Given the description of an element on the screen output the (x, y) to click on. 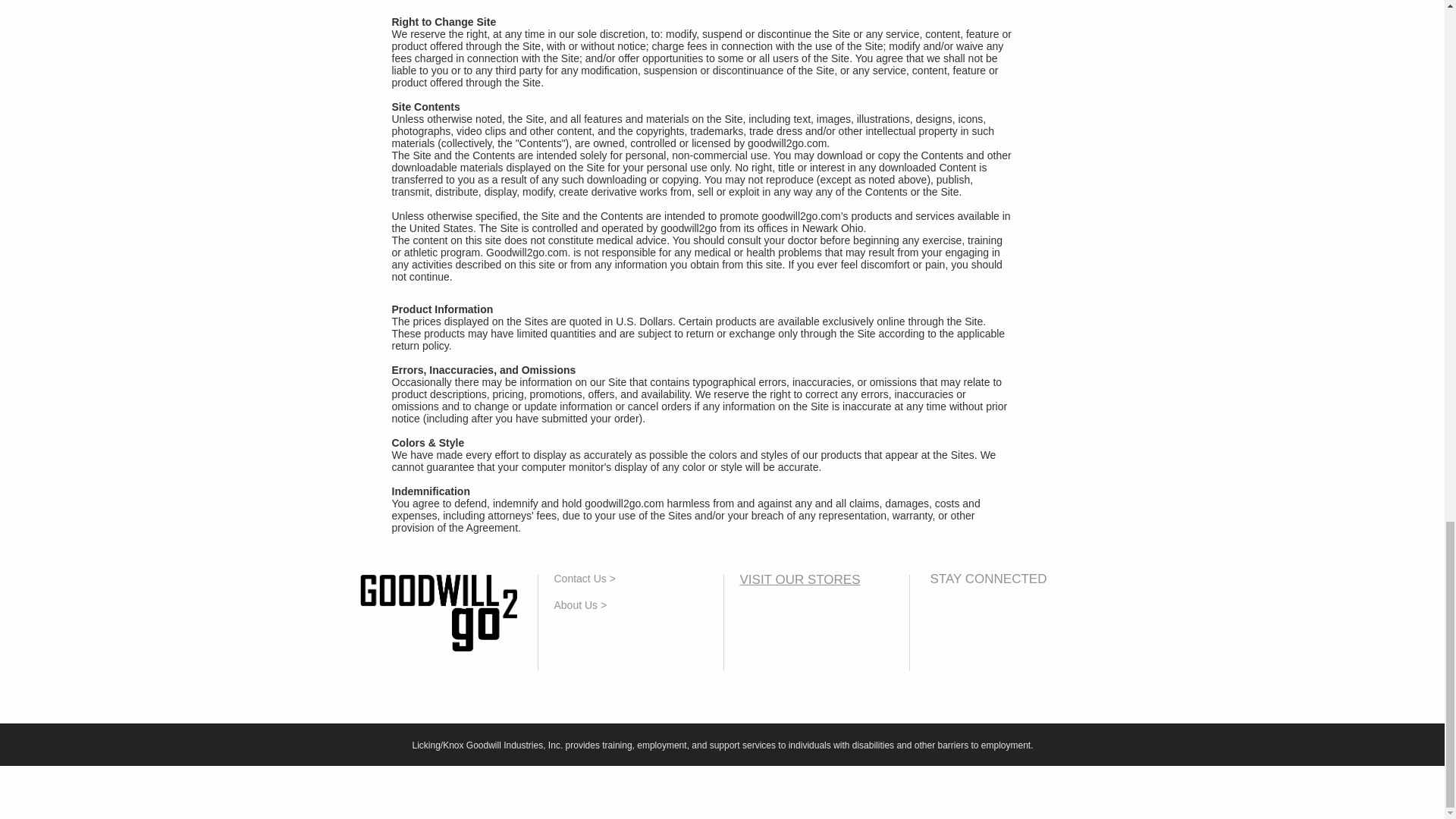
VISIT OUR STORES (799, 579)
Click to go Home (437, 612)
